Given the description of an element on the screen output the (x, y) to click on. 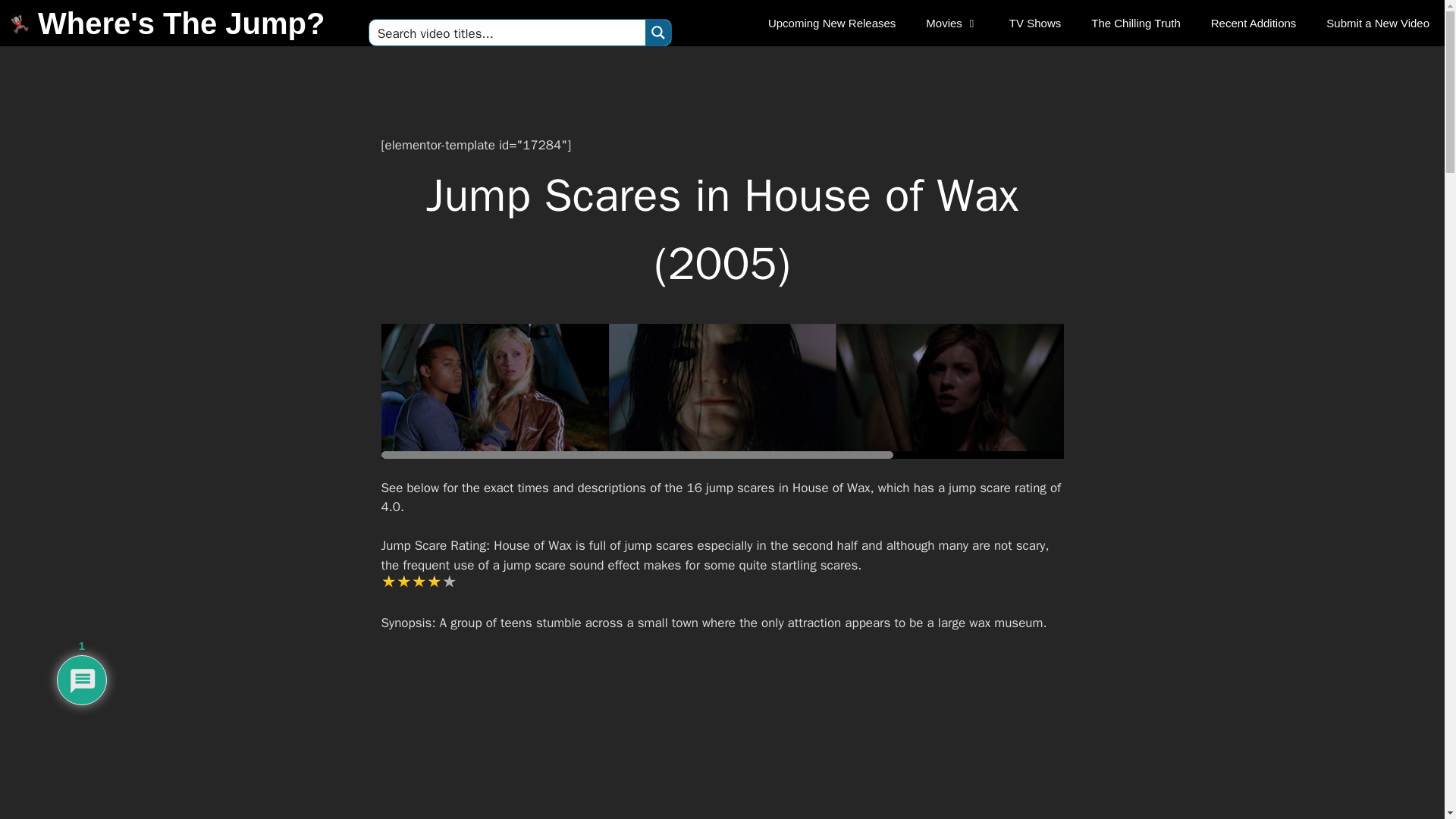
TV Shows (1034, 22)
YouTube video player (722, 735)
The Chilling Truth (1135, 22)
Upcoming New Releases (831, 22)
Recent Additions (1253, 22)
Movies (952, 22)
Where's The Jump? (180, 23)
